Given the description of an element on the screen output the (x, y) to click on. 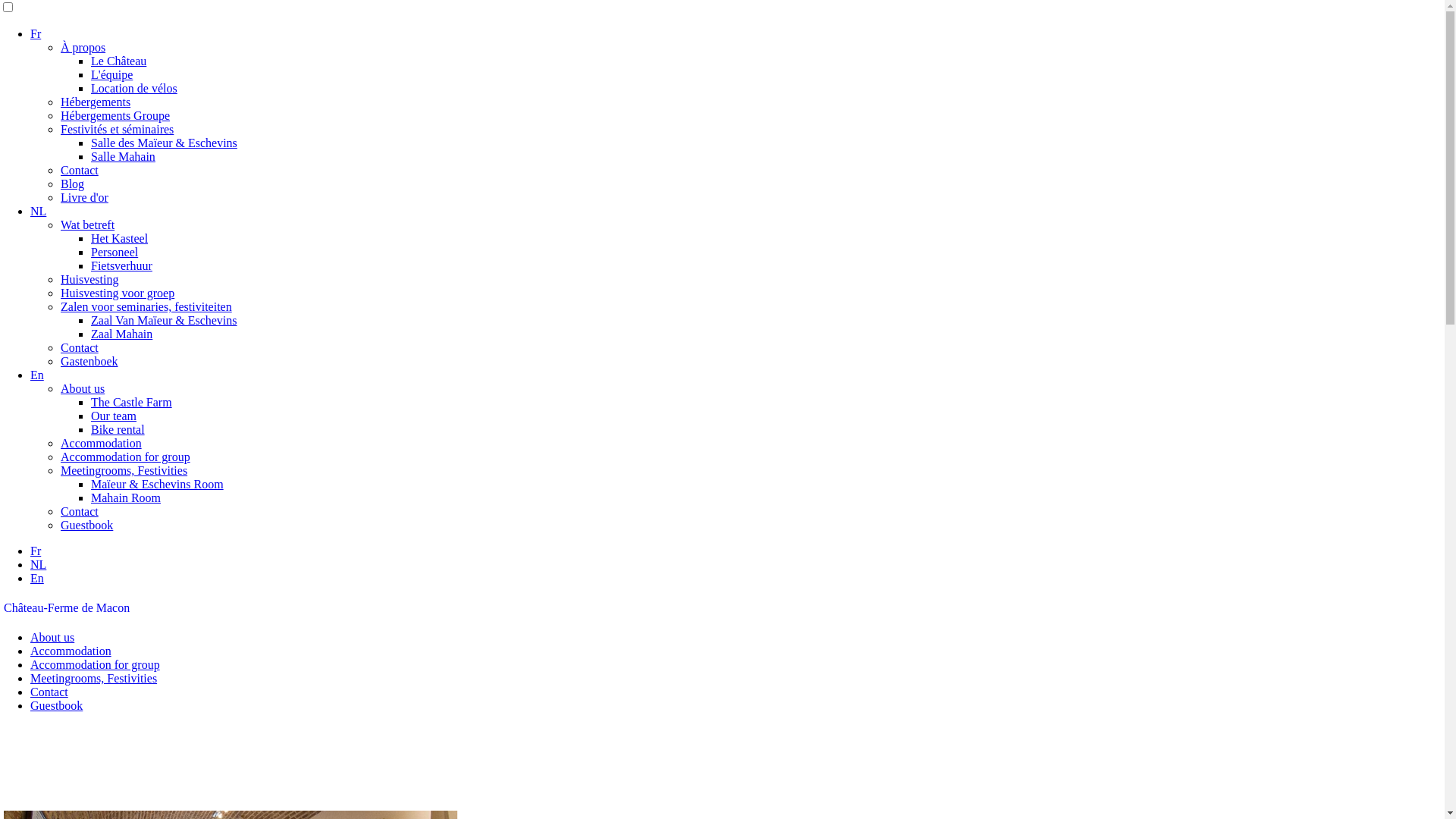
Mahain Room Element type: text (125, 497)
Guestbook Element type: text (86, 524)
NL Element type: text (38, 564)
Contact Element type: text (79, 511)
En Element type: text (36, 374)
Fr Element type: text (35, 550)
Salle Mahain Element type: text (123, 156)
Huisvesting voor groep Element type: text (117, 292)
NL Element type: text (38, 210)
Fr Element type: text (35, 33)
Huisvesting Element type: text (89, 279)
Meetingrooms, Festivities Element type: text (123, 470)
The Castle Farm Element type: text (131, 401)
Livre d'or Element type: text (84, 197)
Accommodation for group Element type: text (125, 456)
Contact Element type: text (79, 347)
Accommodation Element type: text (70, 650)
Blog Element type: text (72, 183)
Contact Element type: text (79, 169)
Contact Element type: text (49, 691)
Het Kasteel Element type: text (119, 238)
Personeel Element type: text (114, 251)
Guestbook Element type: text (56, 705)
En Element type: text (36, 577)
About us Element type: text (52, 636)
Fietsverhuur Element type: text (121, 265)
Meetingrooms, Festivities Element type: text (93, 677)
Wat betreft Element type: text (87, 224)
Accommodation Element type: text (100, 442)
Accommodation for group Element type: text (95, 664)
Our team Element type: text (113, 415)
Bike rental Element type: text (117, 429)
Gastenboek Element type: text (89, 360)
Zalen voor seminaries, festiviteiten Element type: text (146, 306)
Zaal Mahain Element type: text (121, 333)
About us Element type: text (82, 388)
